Given the description of an element on the screen output the (x, y) to click on. 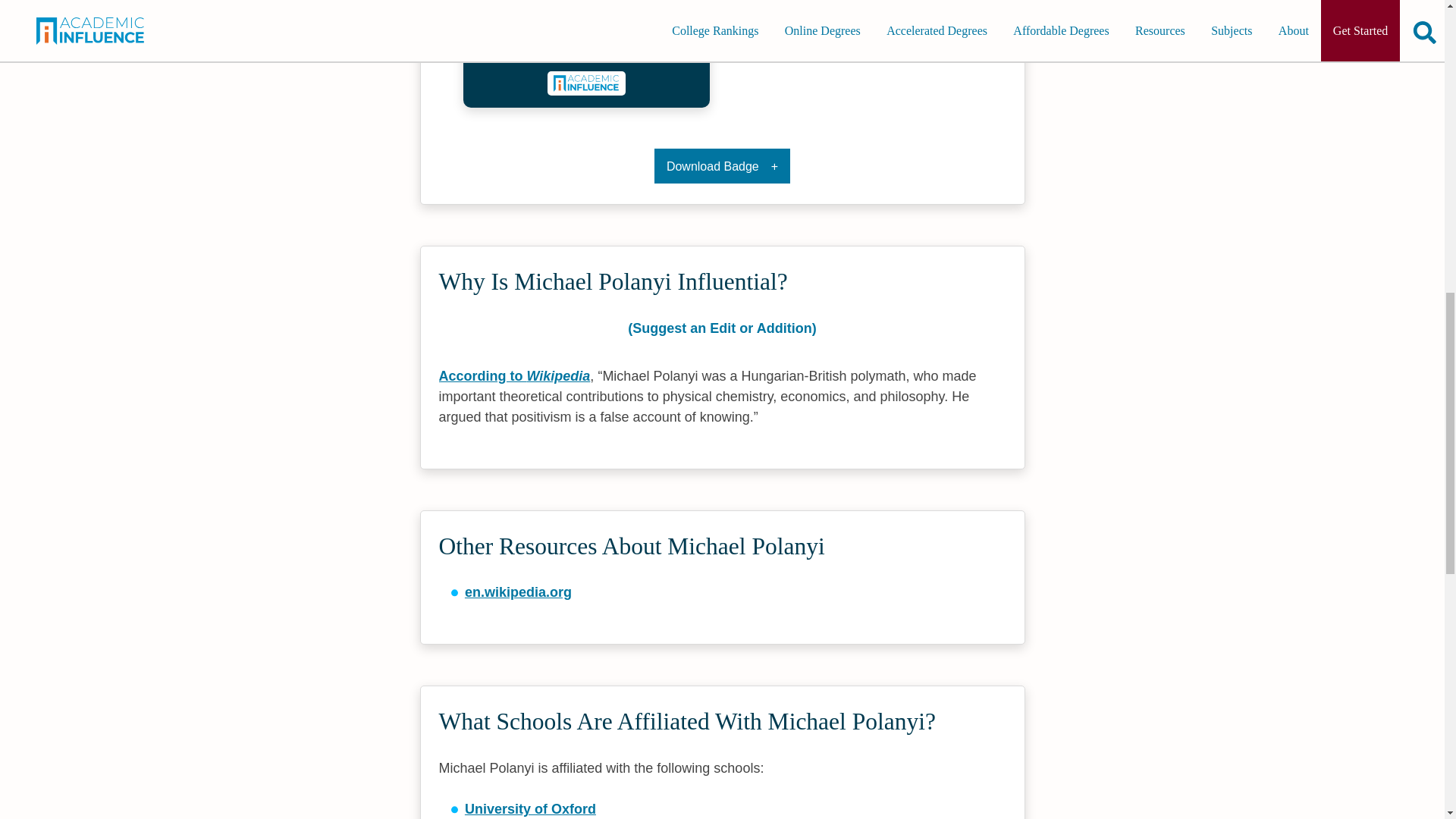
en.wikipedia.org (518, 591)
Chemistry Degrees (586, 48)
According to Wikipedia (513, 376)
University of Oxford (529, 808)
